Given the description of an element on the screen output the (x, y) to click on. 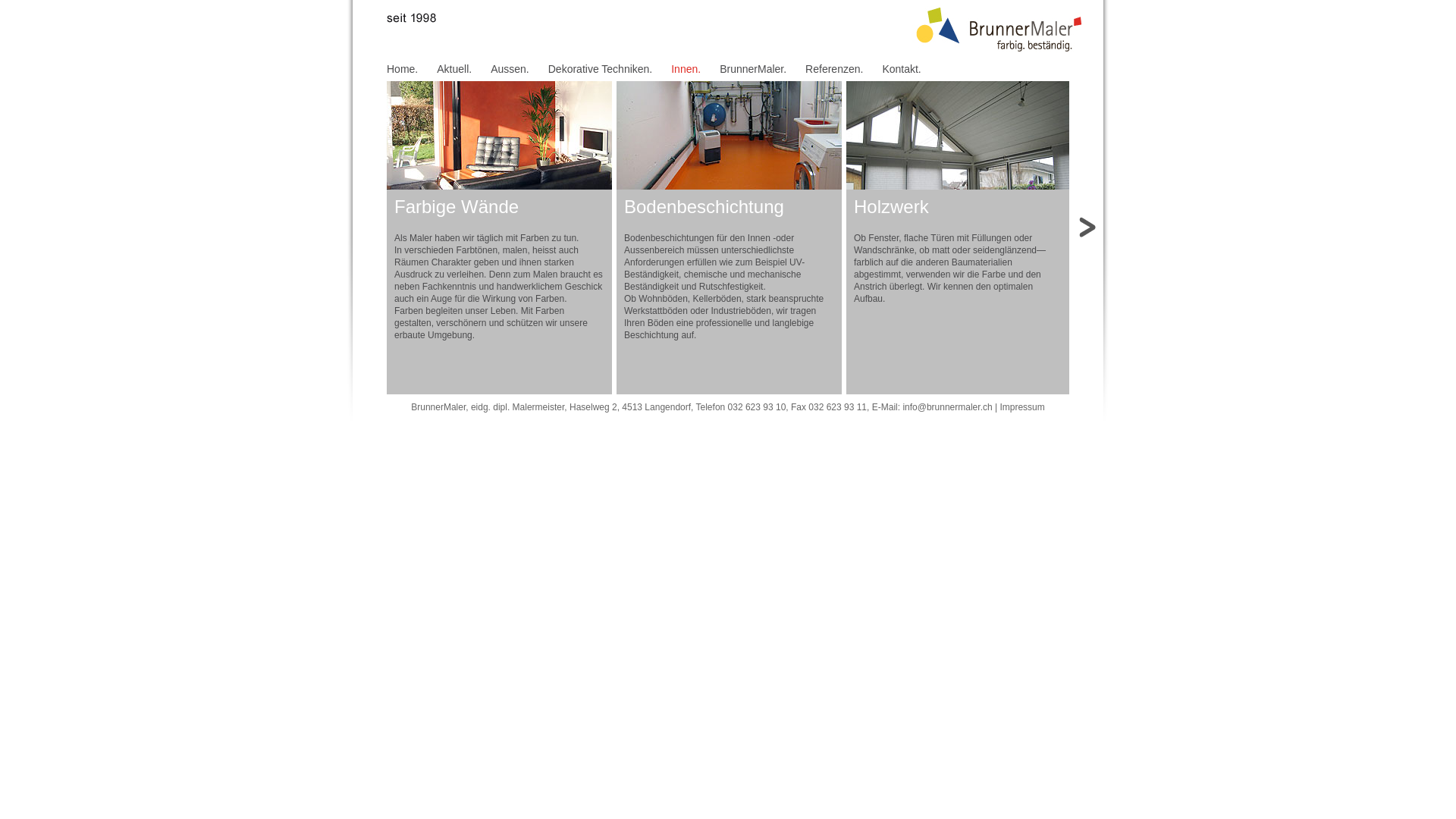
Aktuell. Element type: text (453, 68)
info@brunnermaler.ch Element type: text (946, 406)
Dekorative Techniken. Element type: text (600, 68)
Innen. Element type: text (685, 68)
Aussen. Element type: text (509, 68)
BrunnerMaler. Element type: text (752, 68)
Impressum Element type: text (1021, 406)
Home. Element type: text (401, 68)
Referenzen. Element type: text (833, 68)
Kontakt. Element type: text (900, 68)
